Given the description of an element on the screen output the (x, y) to click on. 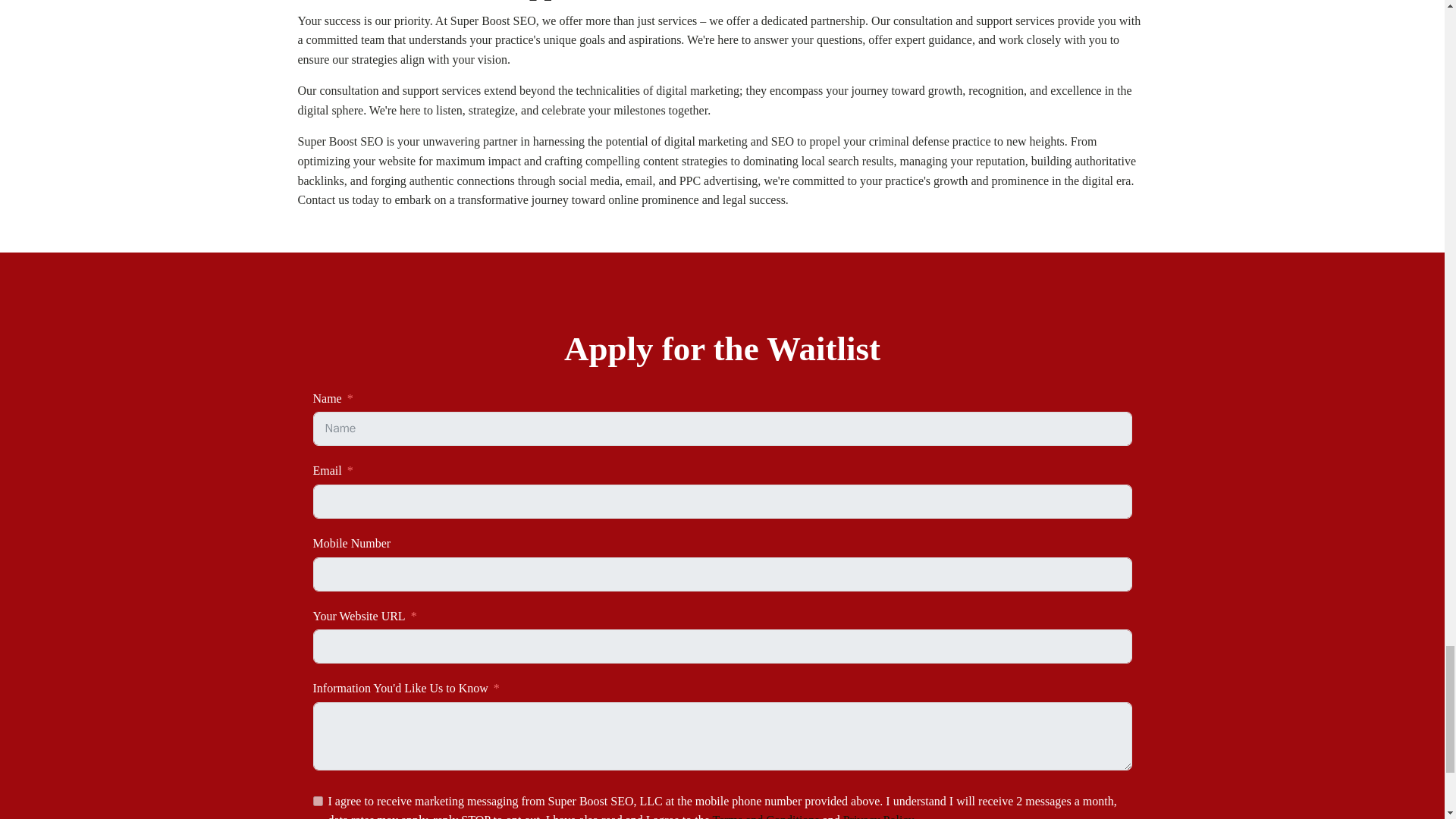
Privacy Policy (878, 816)
Terms and Conditions (764, 816)
on (317, 800)
